Given the description of an element on the screen output the (x, y) to click on. 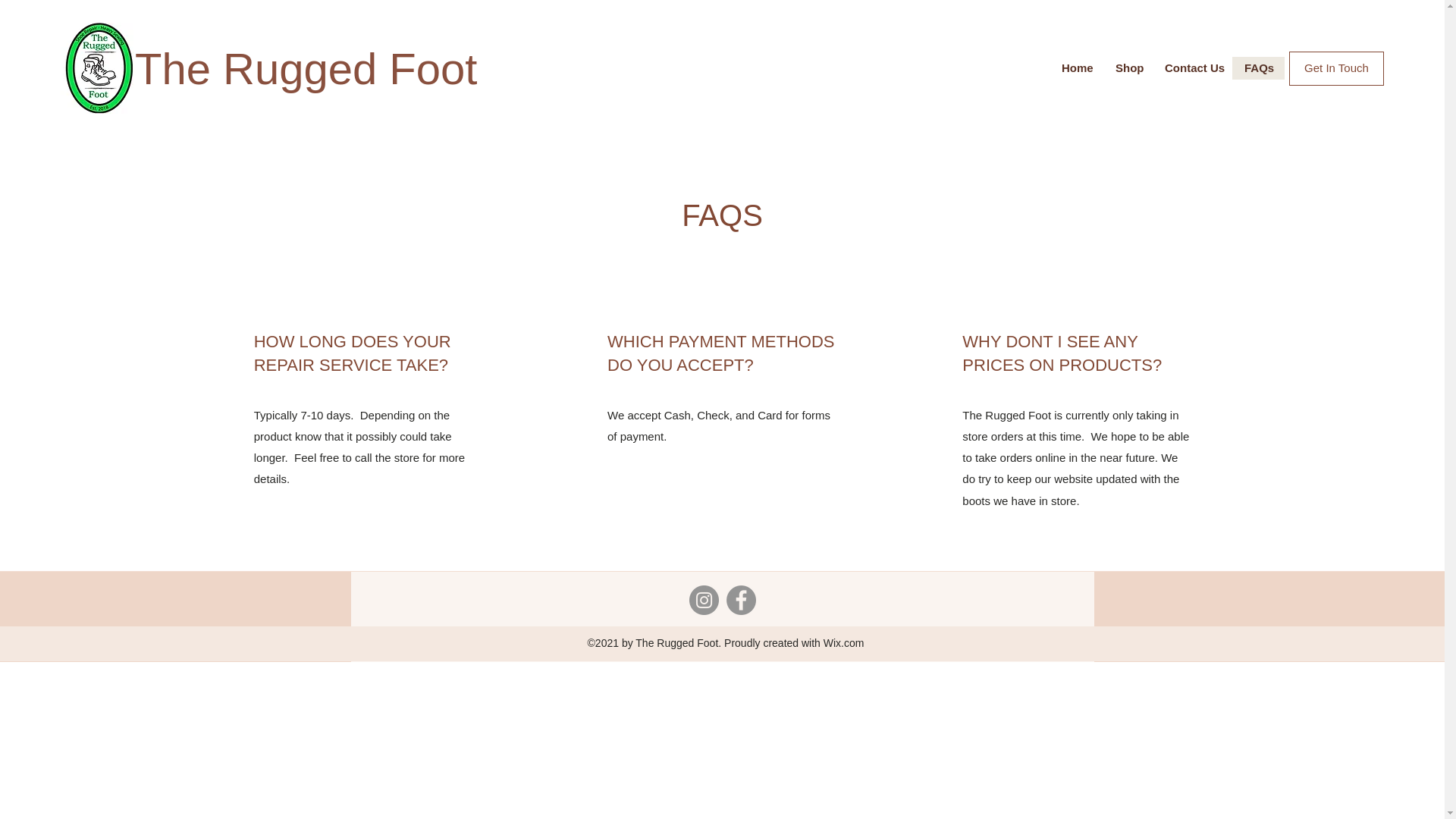
Get In Touch (1336, 68)
Contact Us (1192, 67)
The Rugged Foot (306, 68)
Home (1076, 67)
Shop (1128, 67)
FAQs (1257, 67)
